Given the description of an element on the screen output the (x, y) to click on. 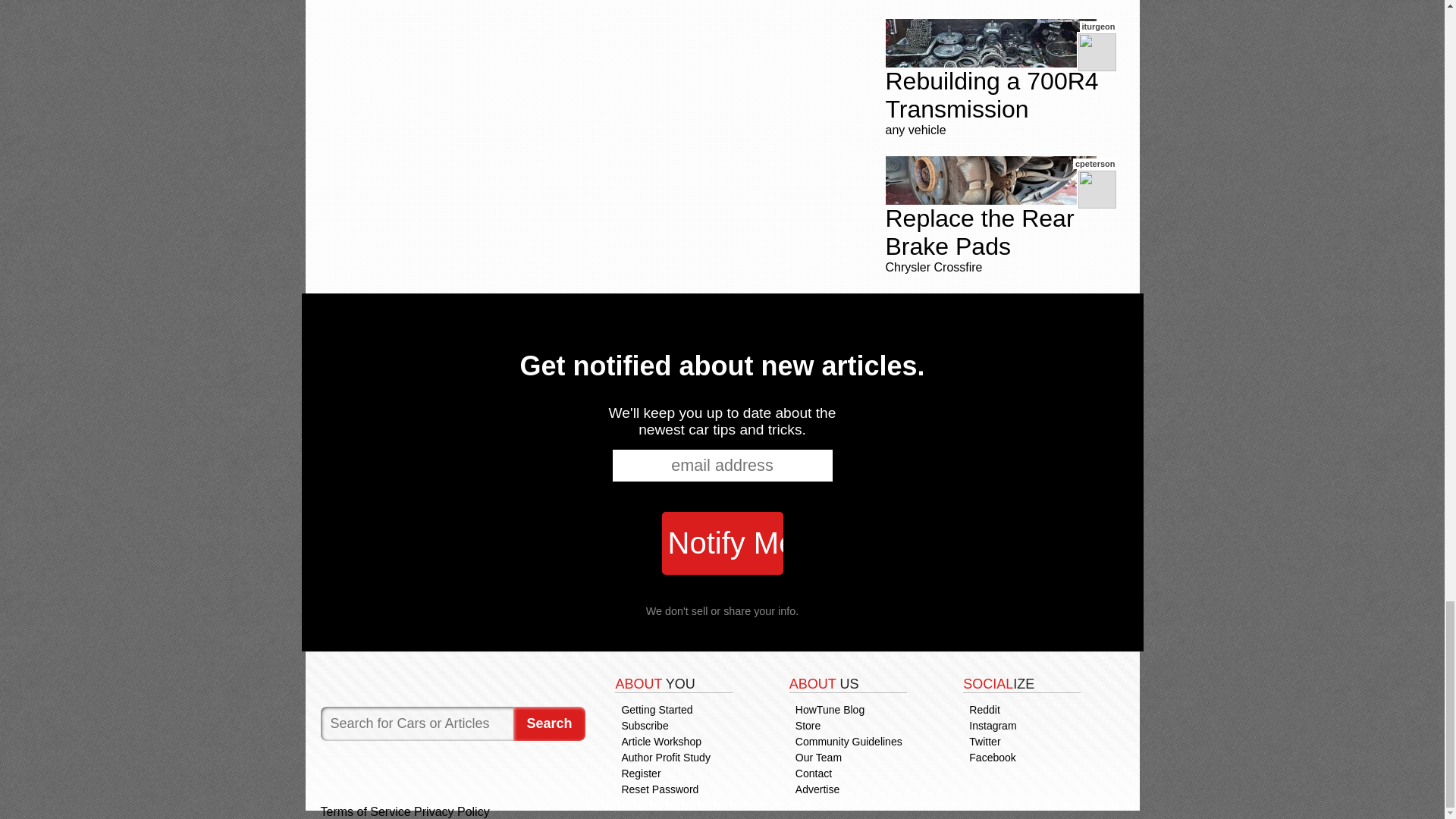
Search (549, 723)
Notify Me (722, 542)
Home (452, 679)
